Given the description of an element on the screen output the (x, y) to click on. 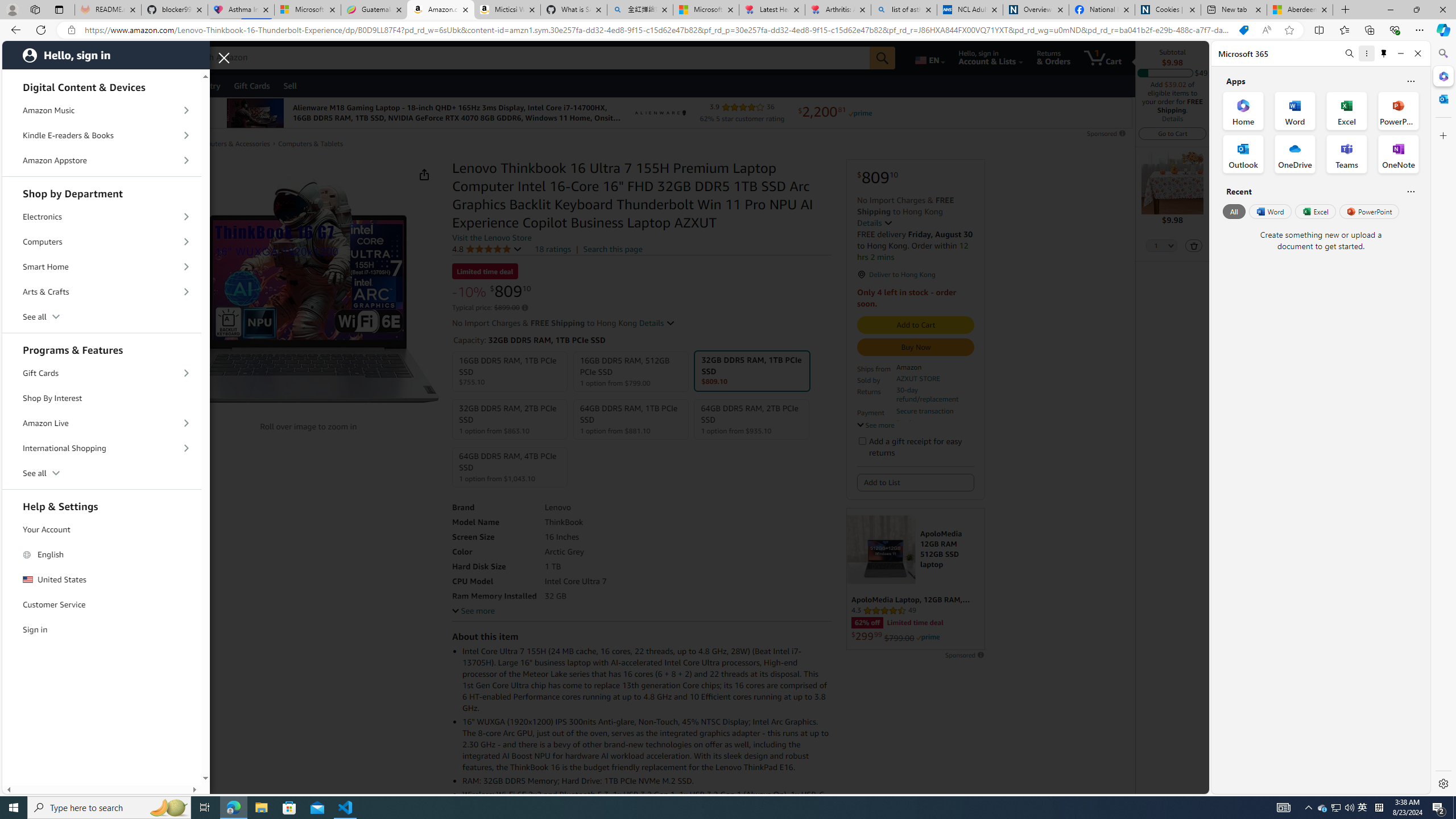
Programs & Features (101, 348)
Deliver to Hong Kong (109, 57)
Computers & Tablets (310, 143)
Computers & Accessories (231, 144)
Is this helpful? (1410, 191)
32GB DDR5 RAM, 1TB PCIe SSD $809.10 (751, 370)
RAM: 32GB DDR5 Memory; Hard Drive: 1TB PCIe NVMe M.2 SSD. (647, 780)
Returns & Orders (1053, 57)
Go (882, 57)
Amazon Music (101, 110)
